Given the description of an element on the screen output the (x, y) to click on. 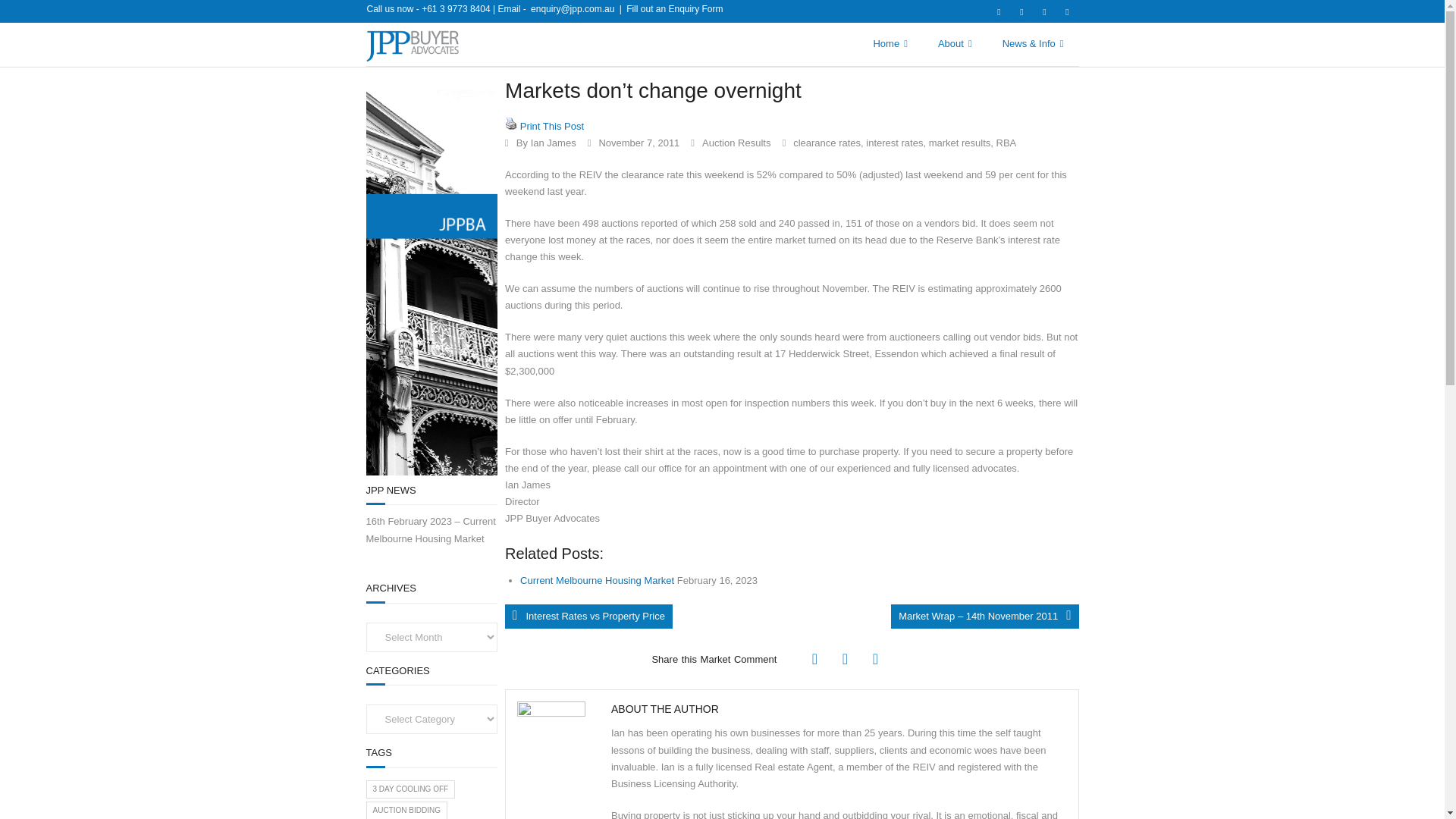
View all posts by Ian James (553, 142)
Fill out an Enquiry Form (674, 9)
About (955, 44)
Print This Post (510, 122)
Print This Post (551, 125)
Home (889, 44)
Print This Post (510, 125)
